Given the description of an element on the screen output the (x, y) to click on. 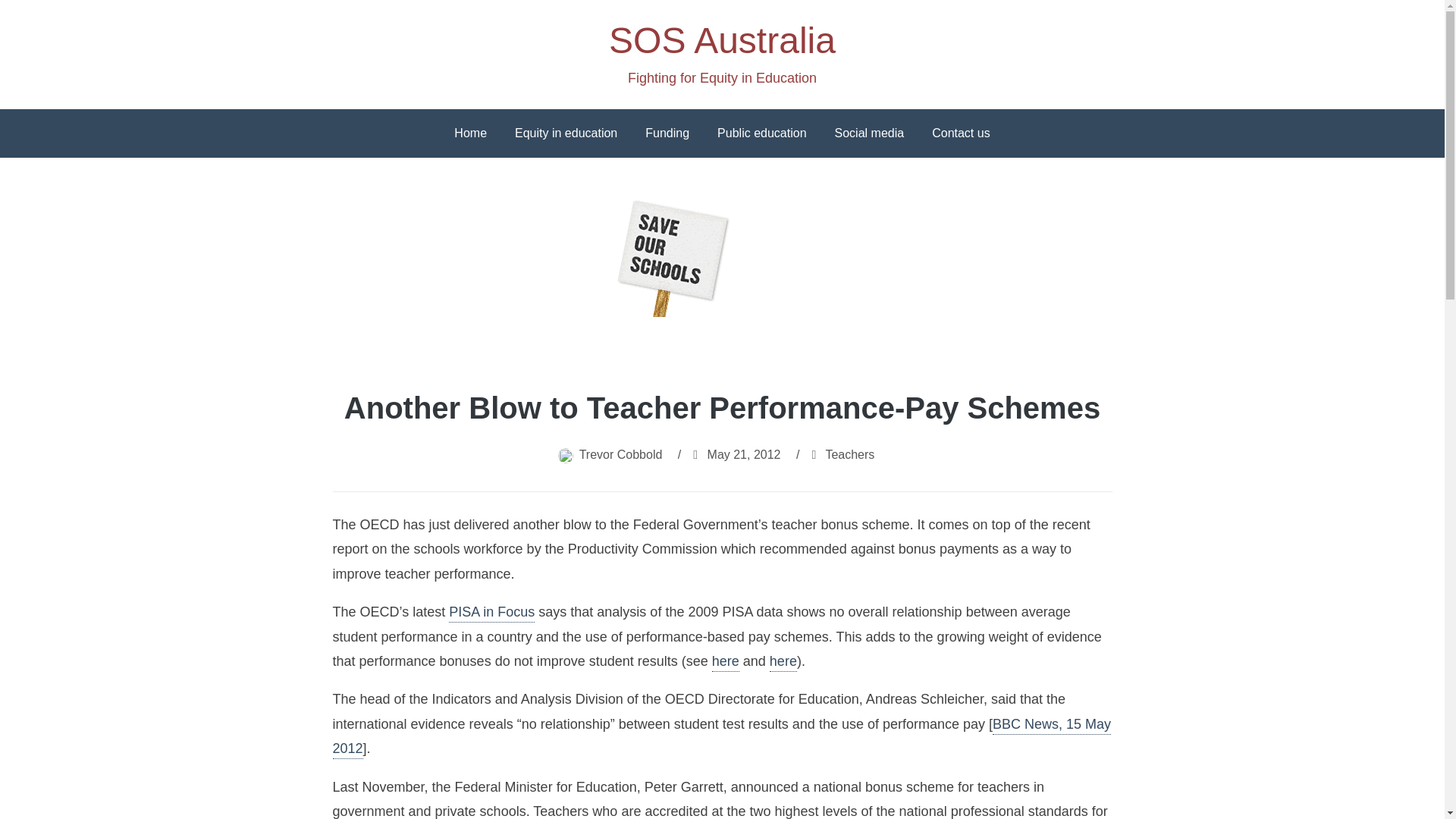
Funding (667, 133)
Teachers (850, 454)
Contact us (960, 133)
SOS Australia (721, 40)
Trevor Cobbold (620, 454)
BBC News, 15 May 2012 (720, 737)
here (783, 662)
May 21, 2012 (743, 454)
Social media (869, 133)
Public education (761, 133)
